Given the description of an element on the screen output the (x, y) to click on. 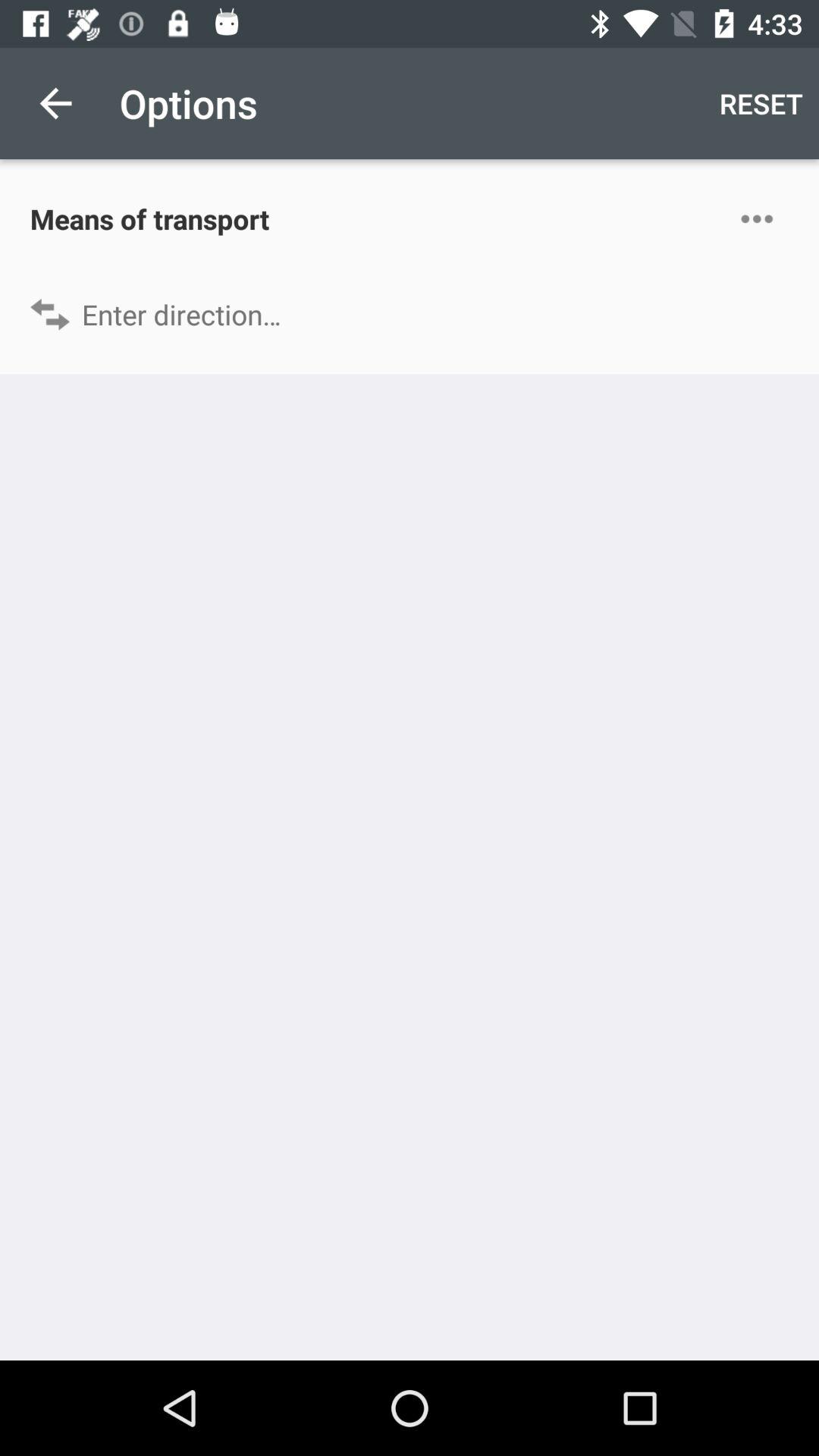
press the app to the right of options (761, 103)
